Given the description of an element on the screen output the (x, y) to click on. 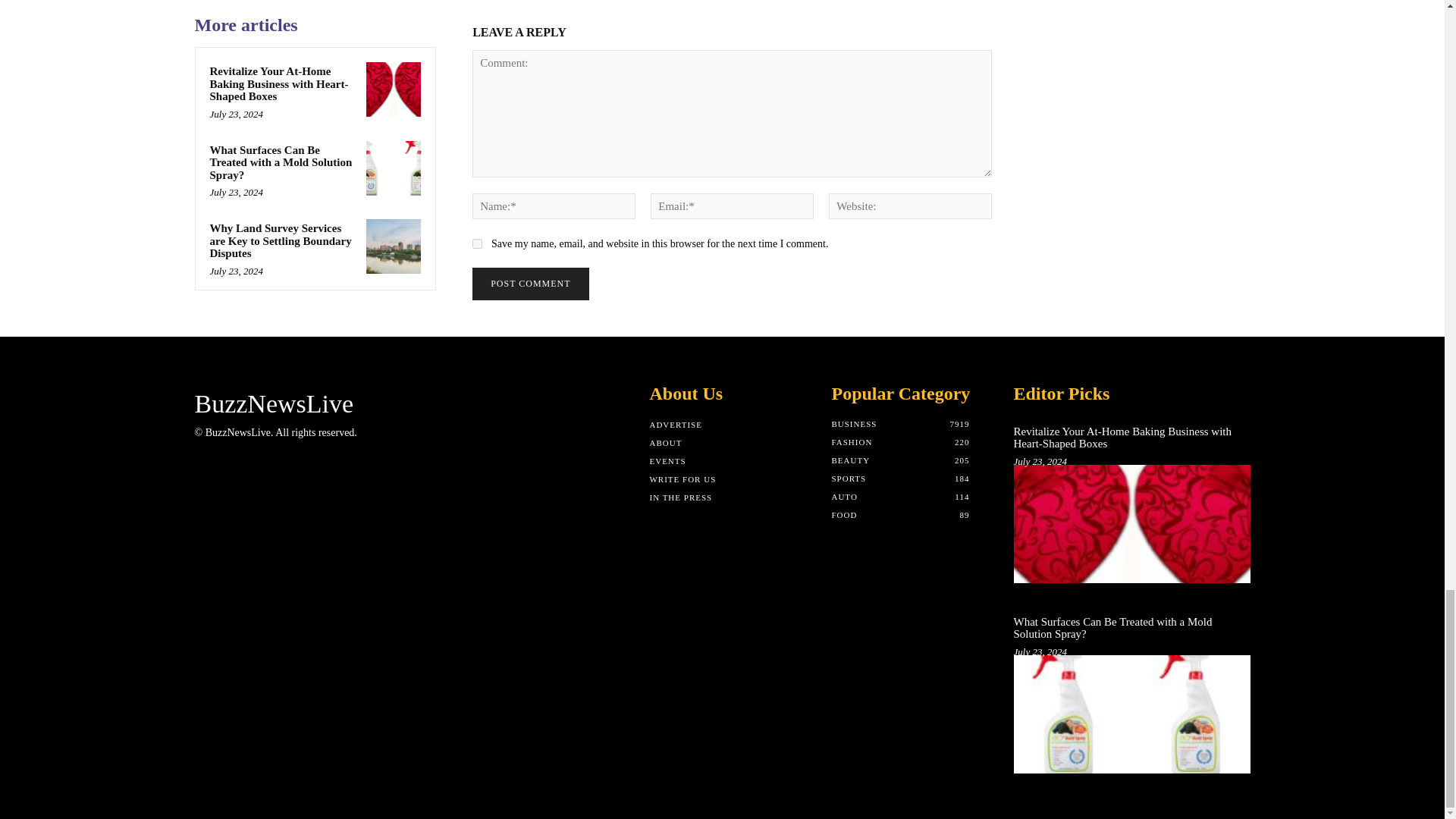
Post Comment (529, 283)
yes (476, 243)
